Given the description of an element on the screen output the (x, y) to click on. 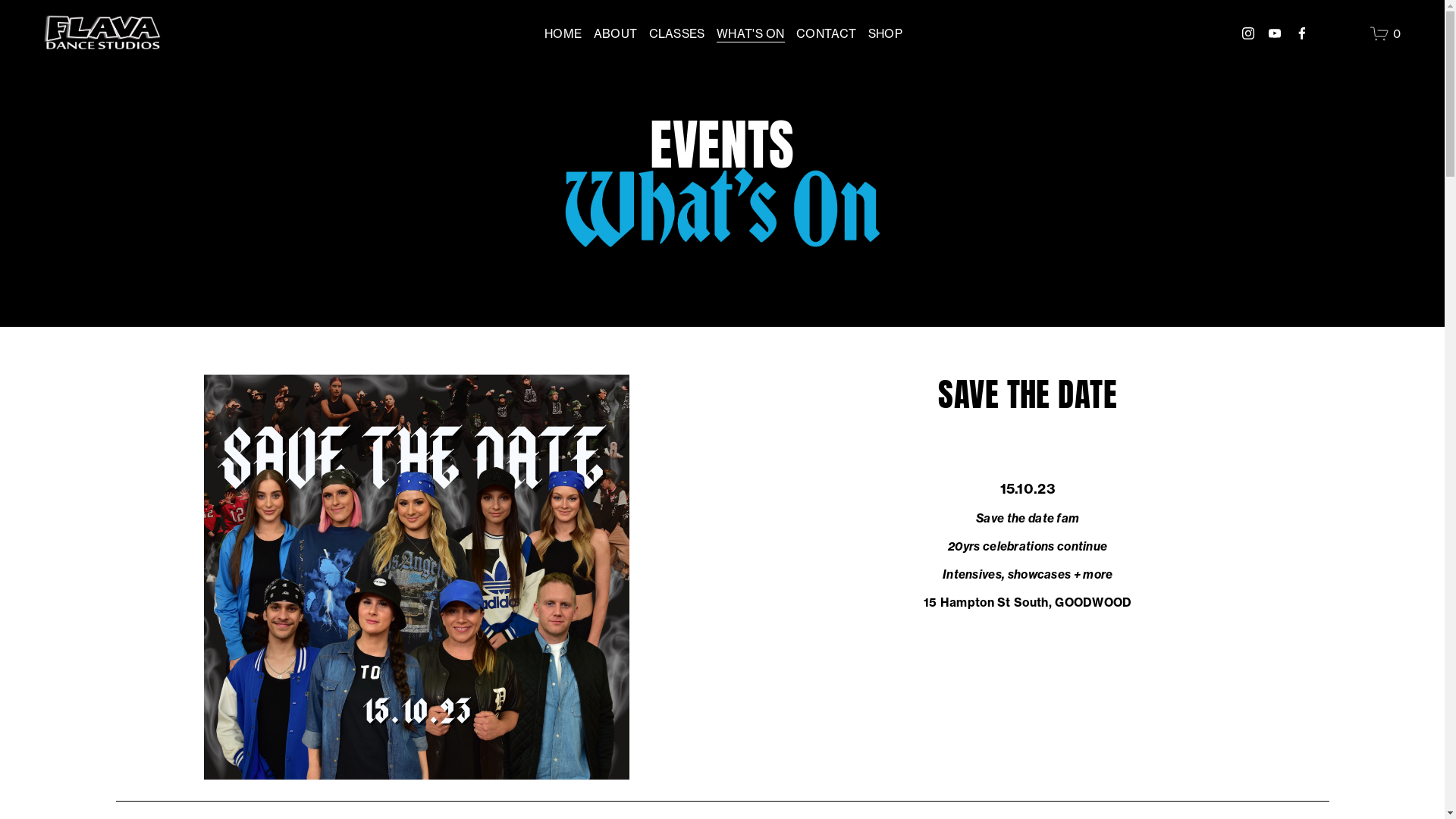
WHAT'S ON Element type: text (750, 33)
0 Element type: text (1385, 33)
HOME Element type: text (562, 33)
CLASSES Element type: text (677, 33)
SHOP Element type: text (885, 33)
CONTACT Element type: text (826, 33)
ABOUT Element type: text (615, 33)
